Given the description of an element on the screen output the (x, y) to click on. 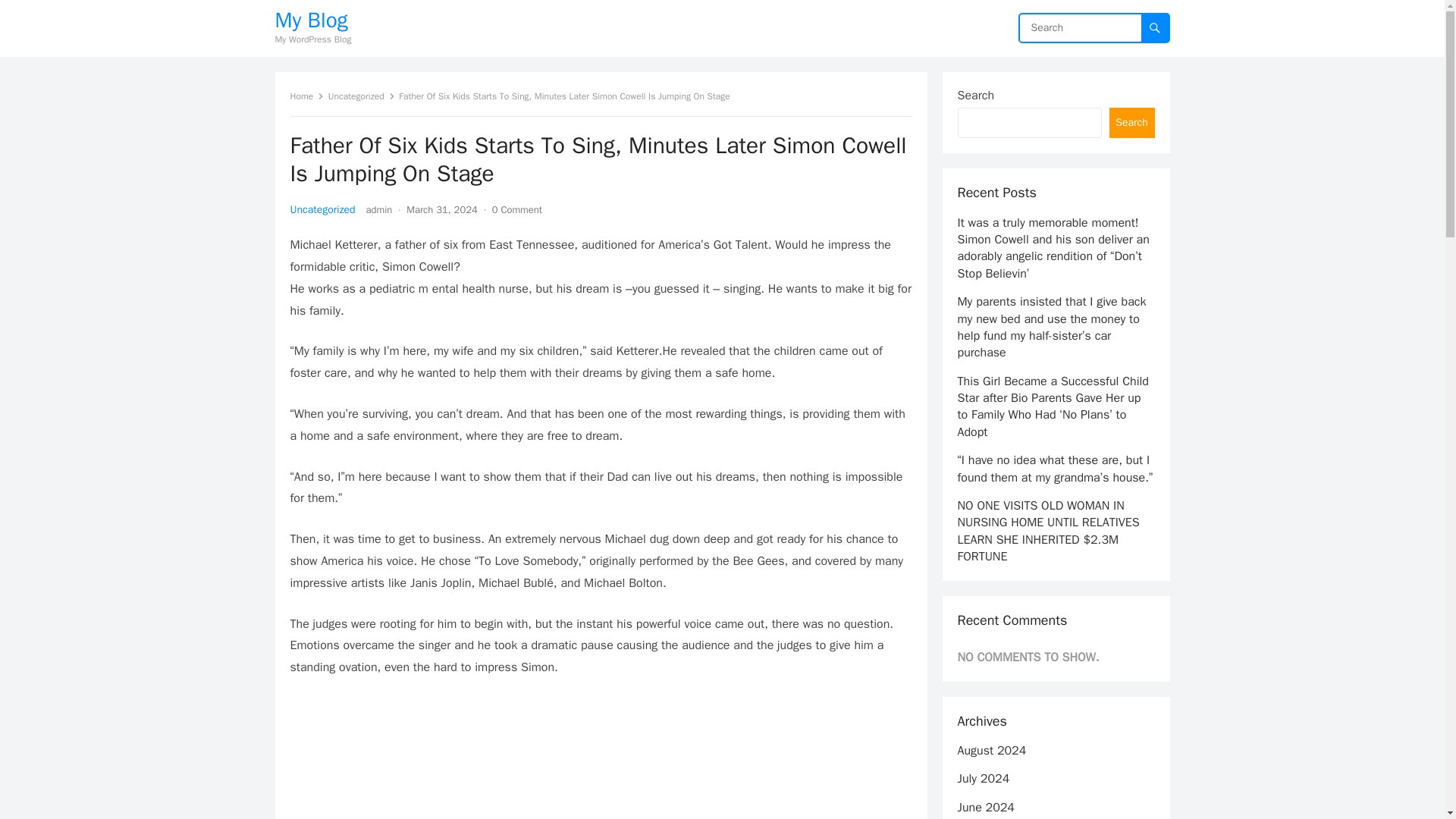
Home (306, 96)
My Blog (312, 20)
Uncategorized (322, 209)
Posts by admin (379, 209)
0 Comment (516, 209)
admin (379, 209)
Uncategorized (361, 96)
